Given the description of an element on the screen output the (x, y) to click on. 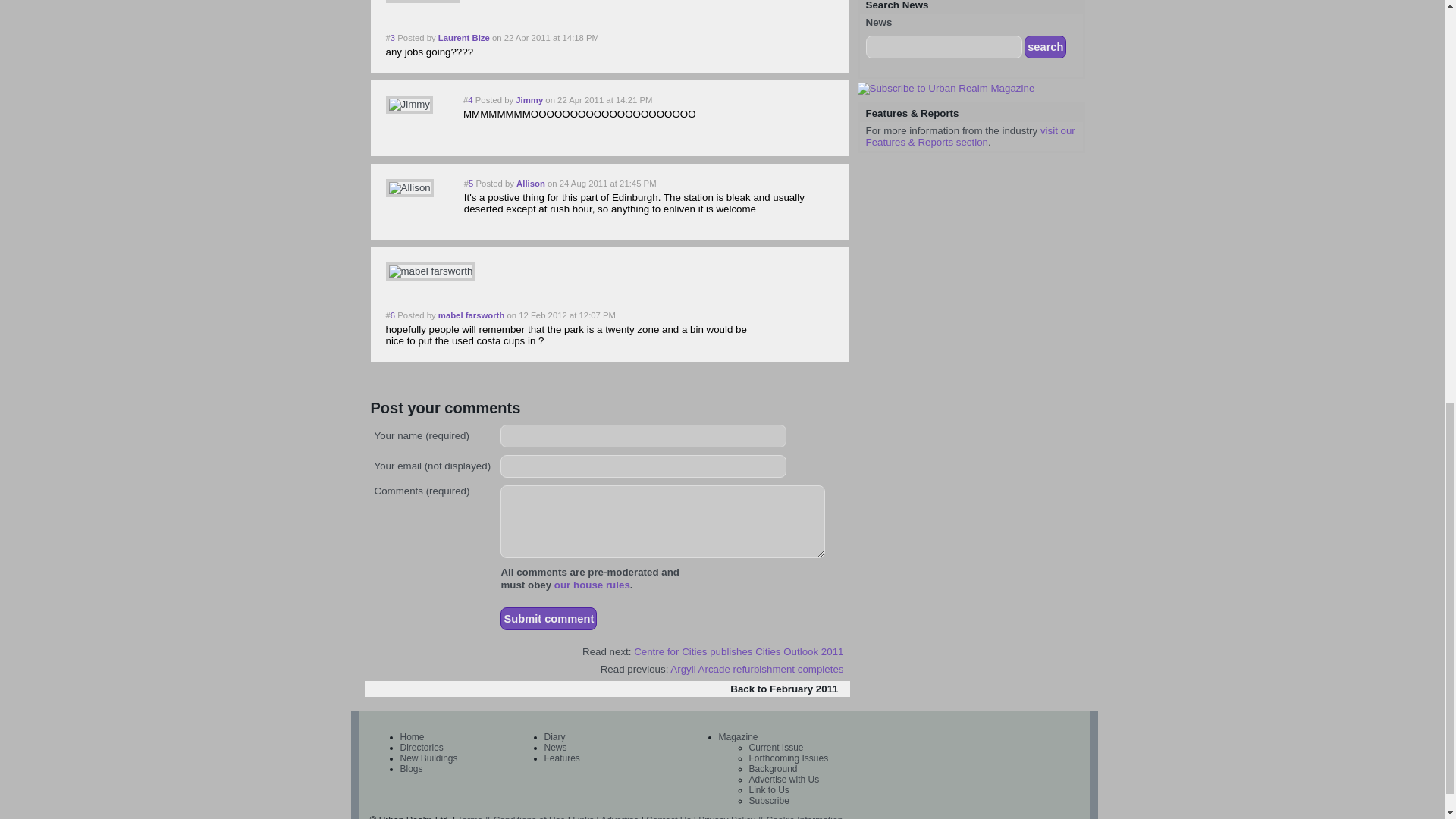
Submit comment (548, 618)
Laurent Bize (422, 1)
search (1045, 47)
Jimmy (408, 104)
Allison (408, 188)
mabel farsworth (430, 271)
Subscribe to Urban Realm Magazine (945, 88)
